Given the description of an element on the screen output the (x, y) to click on. 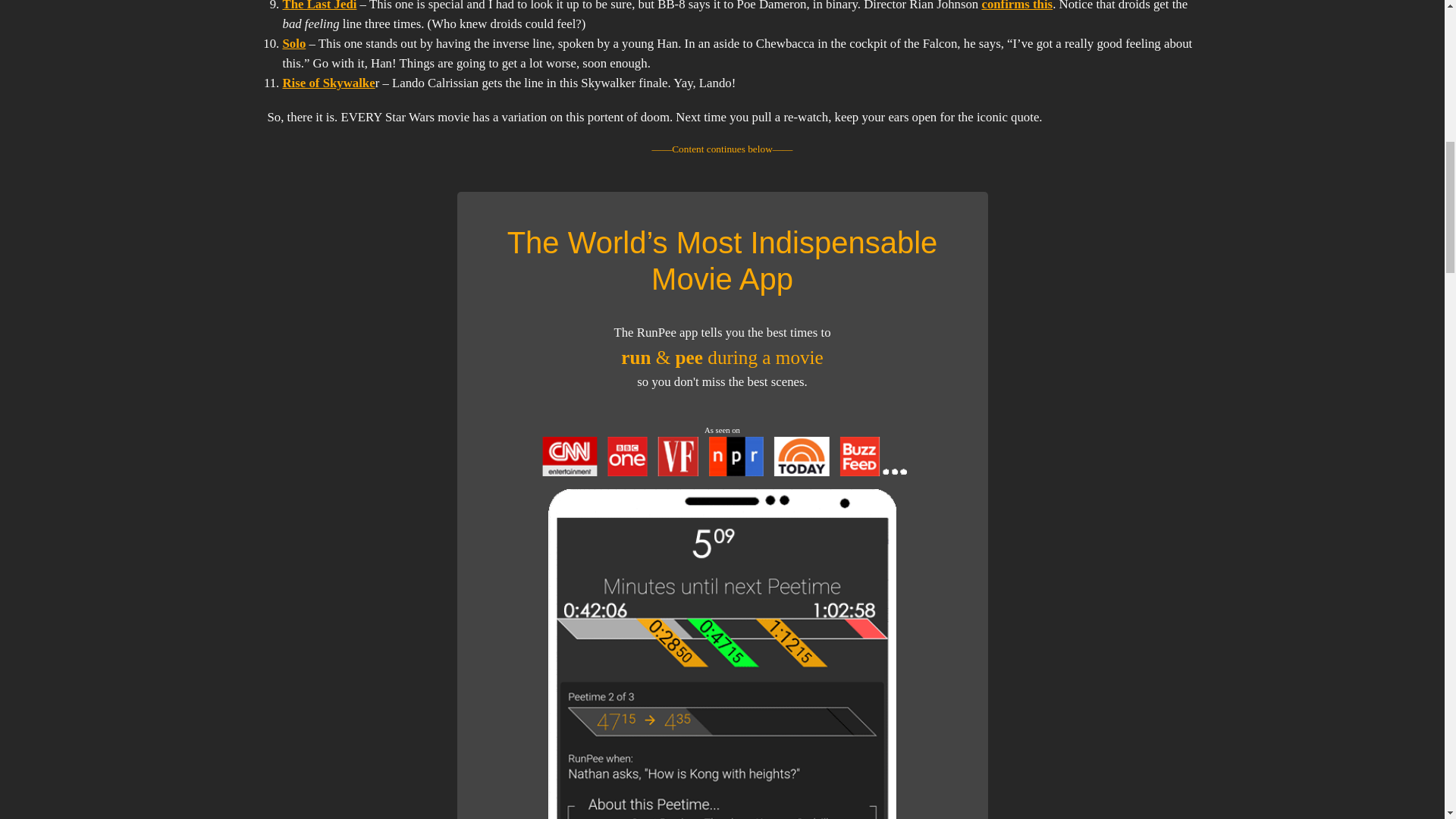
Rise of Skywalke (328, 83)
confirms this (1016, 5)
The Last Jedi (319, 5)
Solo (293, 43)
